Given the description of an element on the screen output the (x, y) to click on. 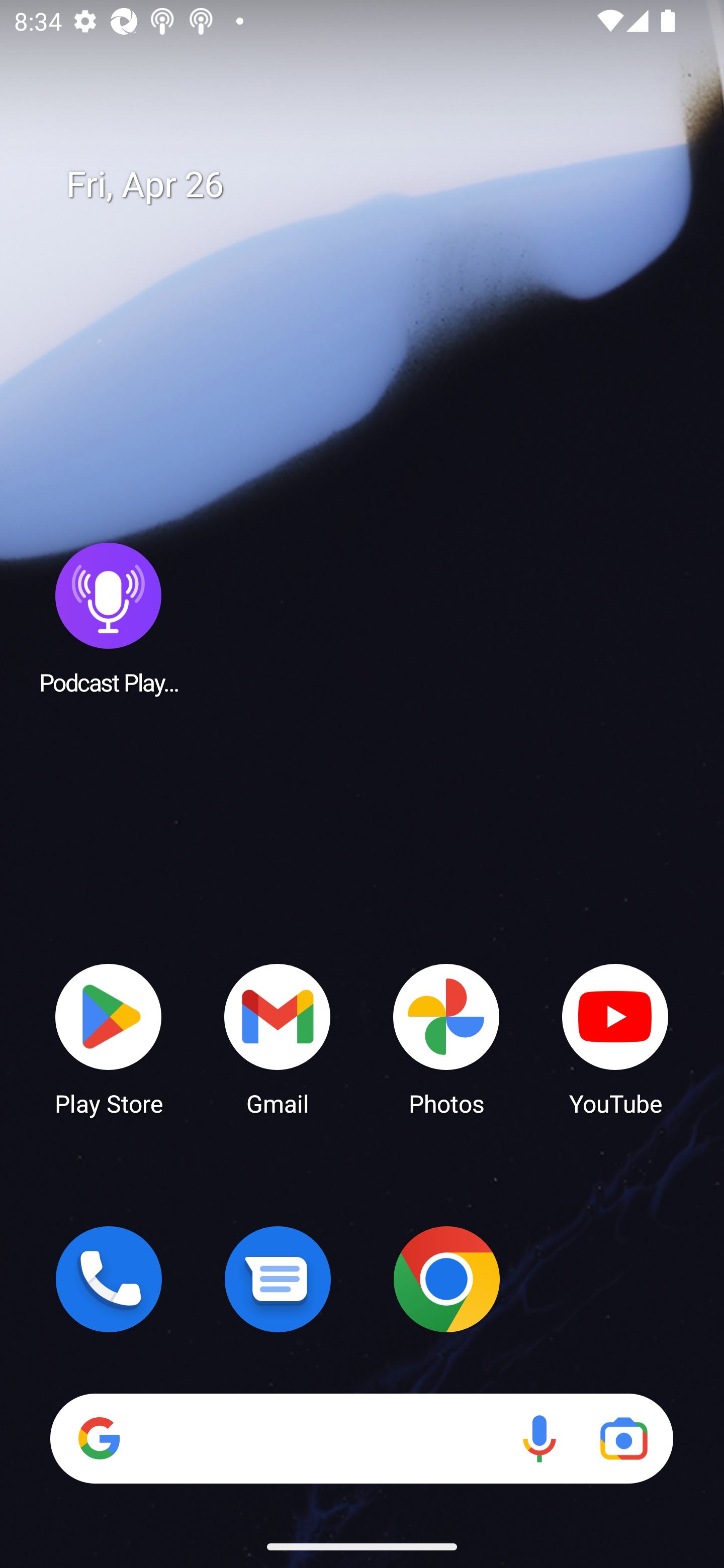
Fri, Apr 26 (375, 184)
Podcast Player (108, 617)
Play Store (108, 1038)
Gmail (277, 1038)
Photos (445, 1038)
YouTube (615, 1038)
Phone (108, 1279)
Messages (277, 1279)
Chrome (446, 1279)
Search Voice search Google Lens (361, 1438)
Voice search (539, 1438)
Google Lens (623, 1438)
